Given the description of an element on the screen output the (x, y) to click on. 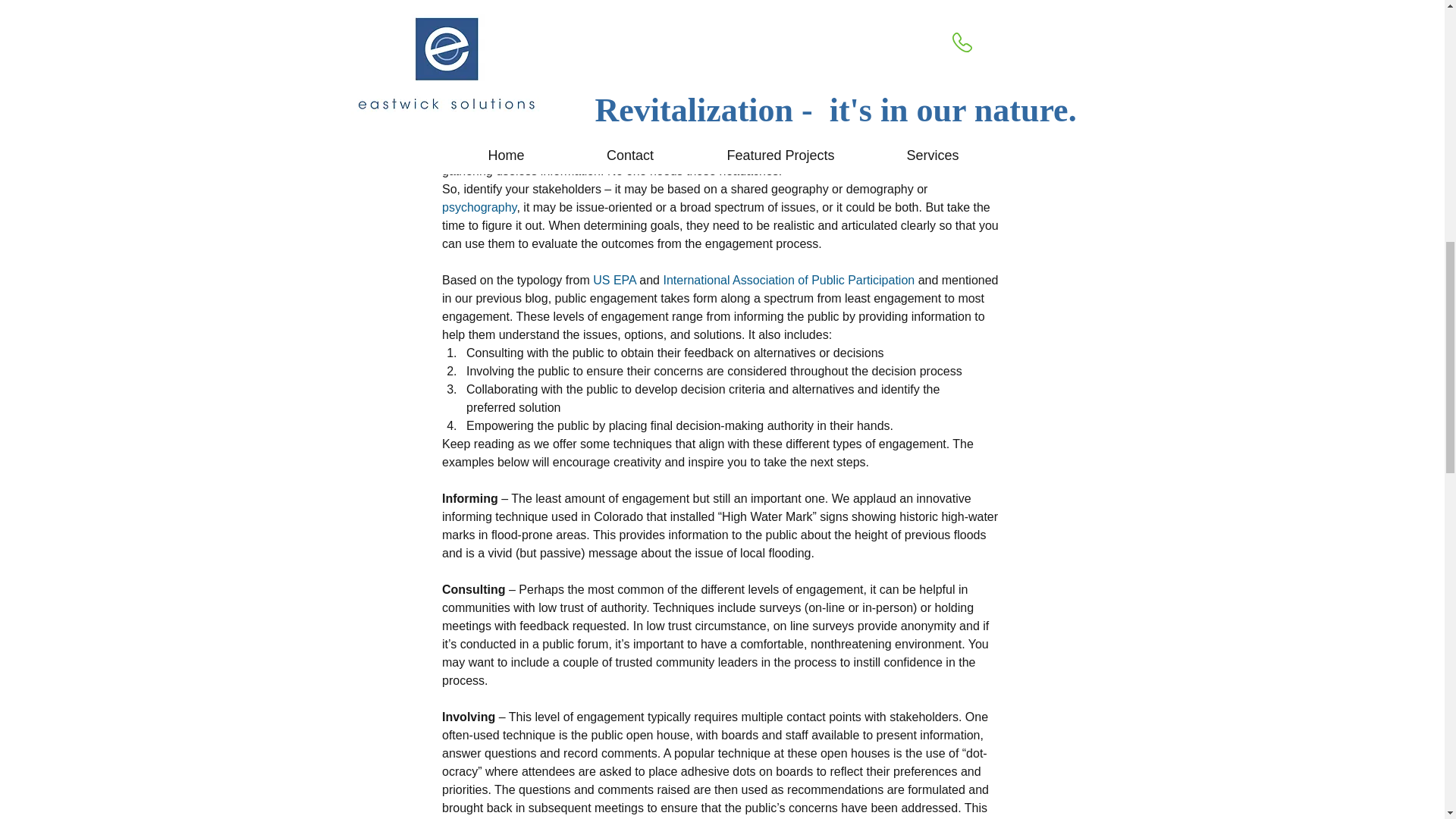
Economic Impact of Rail Trails (479, 456)
psychography (478, 206)
which you can read here (594, 6)
International Association of Public Participation (788, 279)
Economic Impact of Rail Trails (721, 456)
US EPA (614, 279)
